Given the description of an element on the screen output the (x, y) to click on. 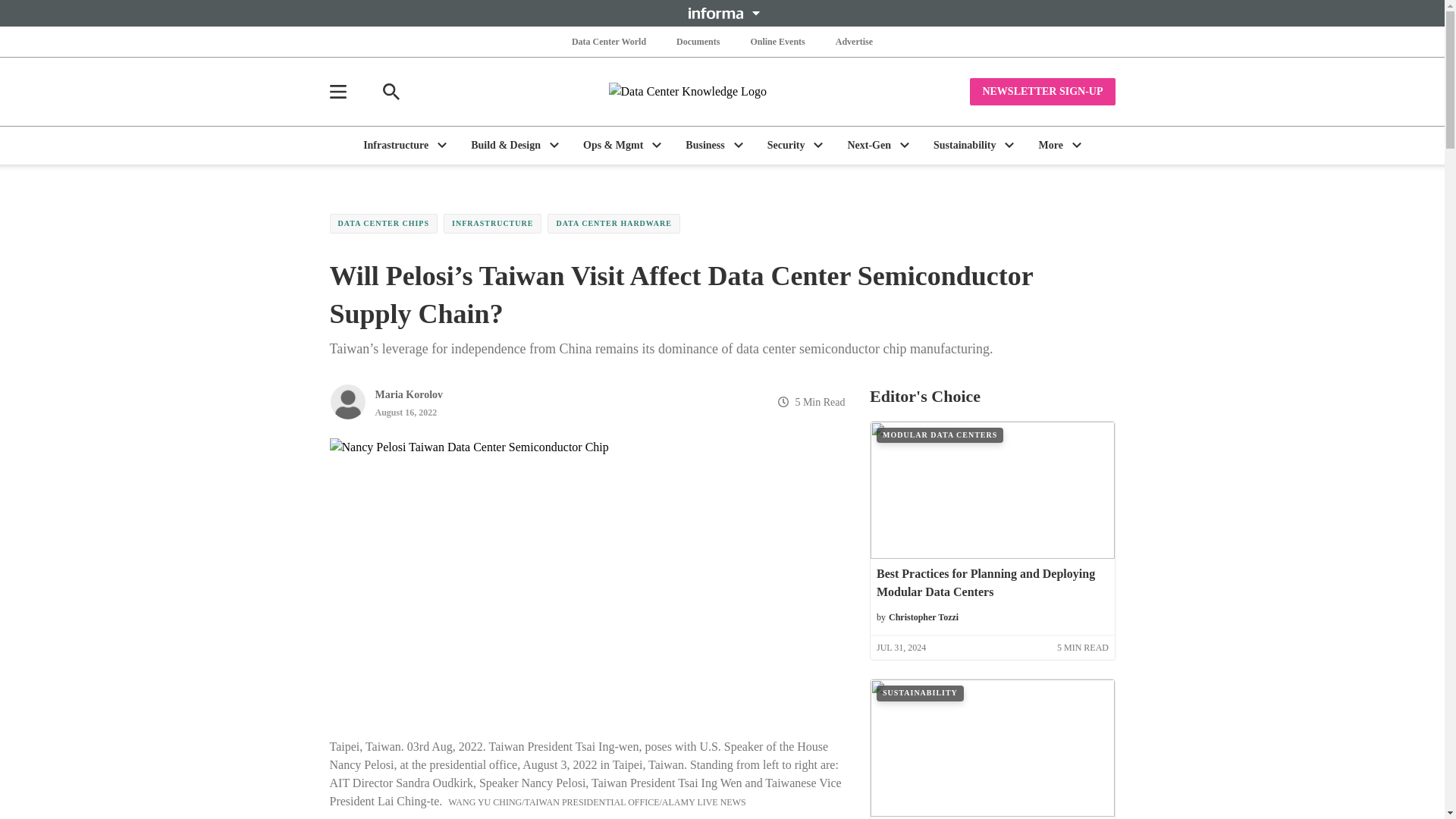
Advertise (854, 41)
Data Center World (609, 41)
NEWSLETTER SIGN-UP (1042, 90)
Online Events (777, 41)
Picture of Maria Korolov (347, 402)
Documents (697, 41)
Data Center Knowledge Logo (721, 91)
